Given the description of an element on the screen output the (x, y) to click on. 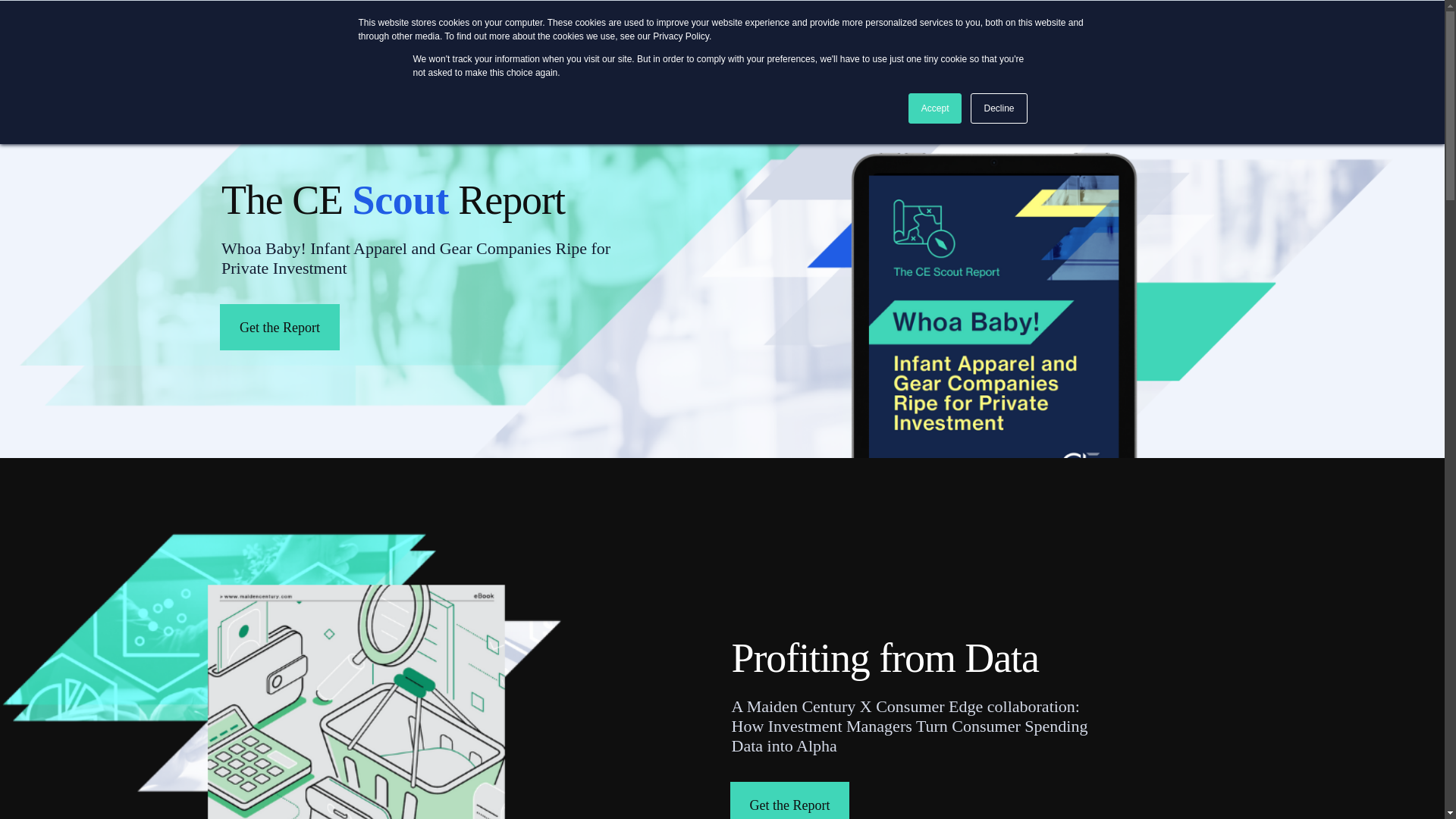
Get the Report (279, 326)
Decline (998, 108)
About (723, 88)
Products (478, 88)
Accept (935, 108)
Resources (802, 88)
Get the Report (788, 800)
Client Login (1156, 21)
Schedule a Demo (1156, 88)
Solutions (561, 88)
Our Data (646, 88)
